Given the description of an element on the screen output the (x, y) to click on. 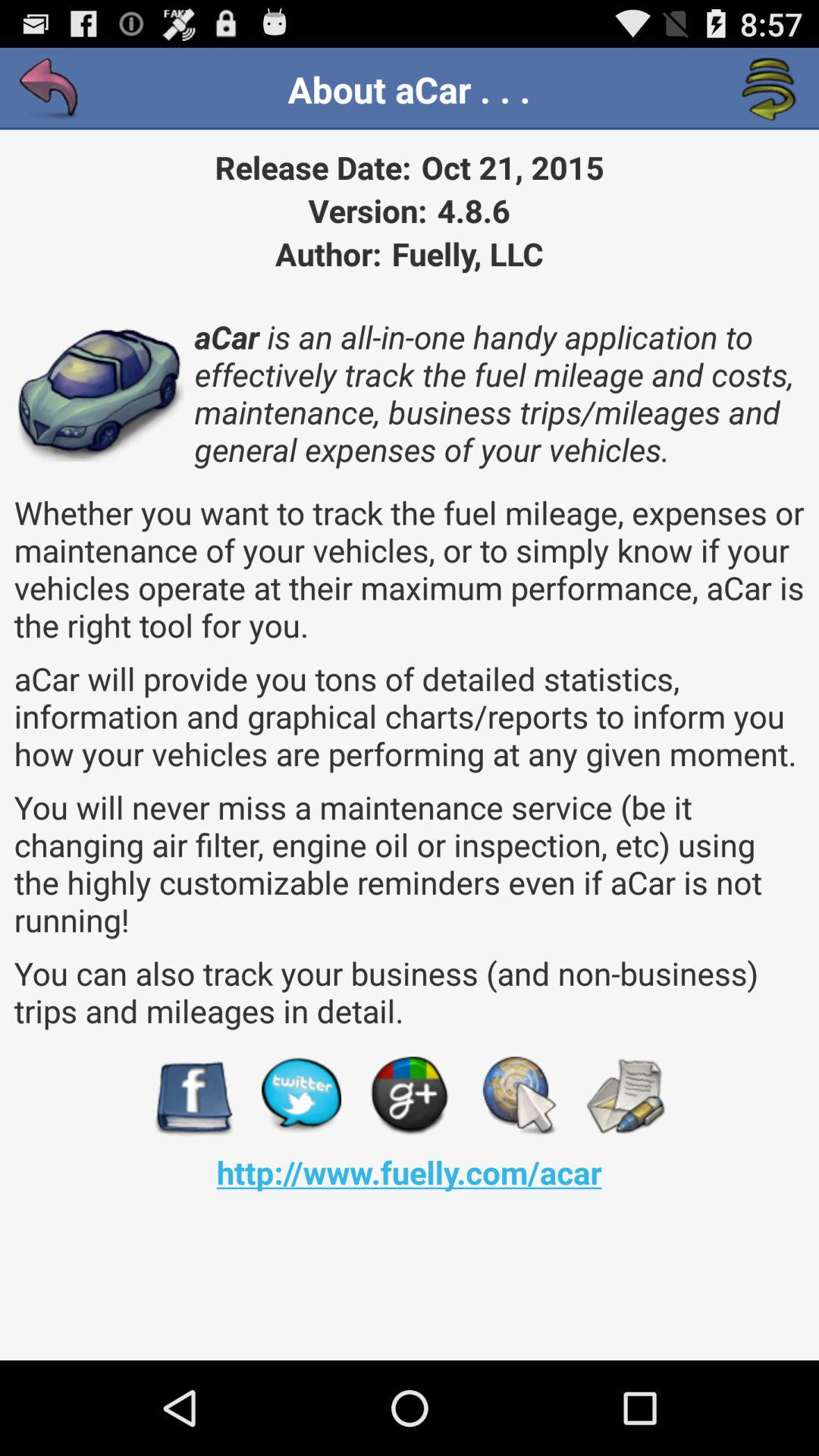
tap item to the left of about acar . . . app (49, 89)
